Given the description of an element on the screen output the (x, y) to click on. 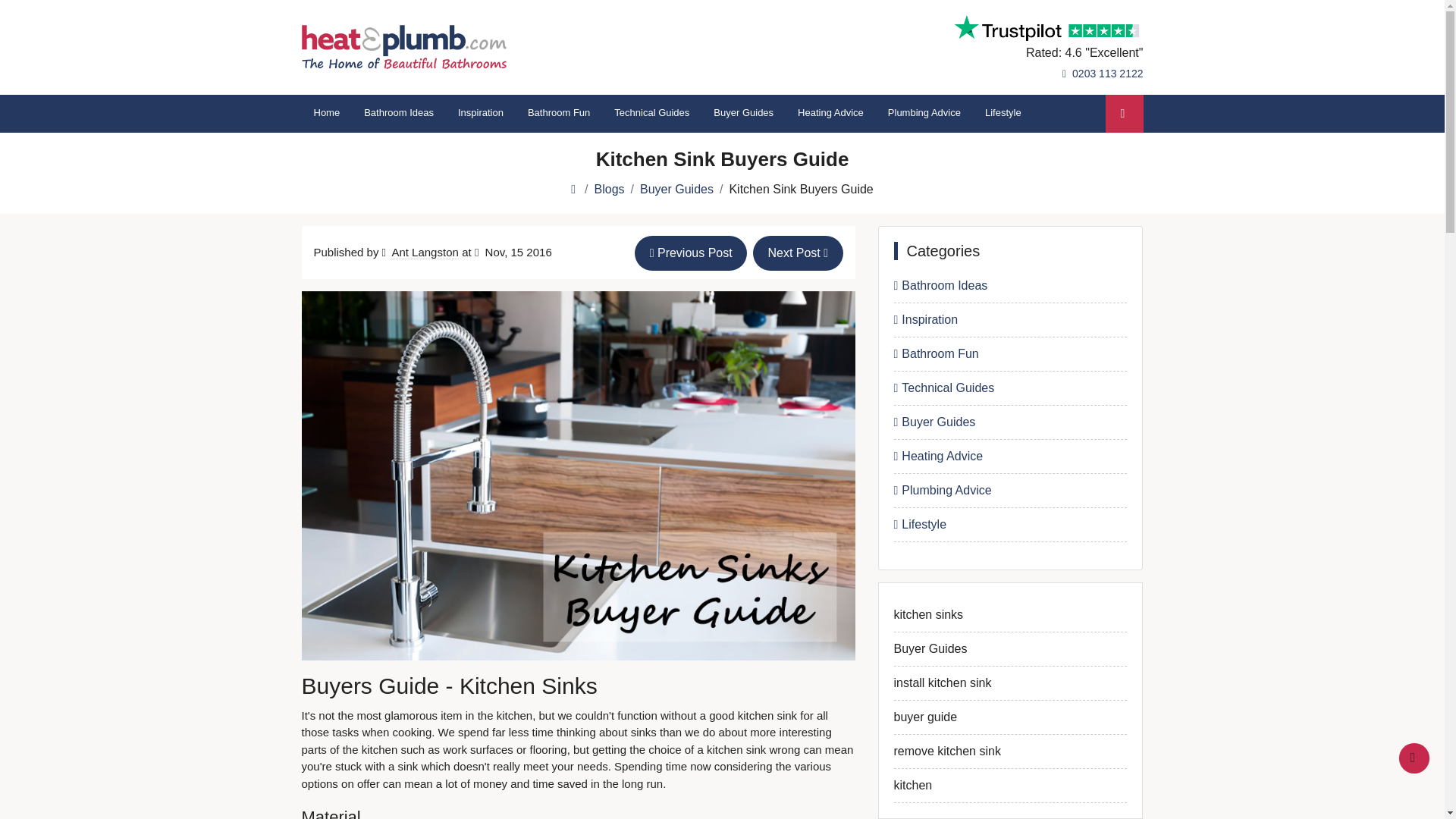
Lifestyle (1002, 113)
Buyer Guides (743, 113)
Bathroom Fun (558, 113)
Heating Advice (1009, 456)
Technical Guides (651, 113)
Bathroom Fun (1009, 354)
Inspiration (1009, 320)
Technical Guides (651, 113)
Heating Advice (831, 113)
Inspiration (480, 113)
Heating Advice (831, 113)
Home (326, 113)
Lifestyle (1009, 524)
Bathroom Fun (558, 113)
